Given the description of an element on the screen output the (x, y) to click on. 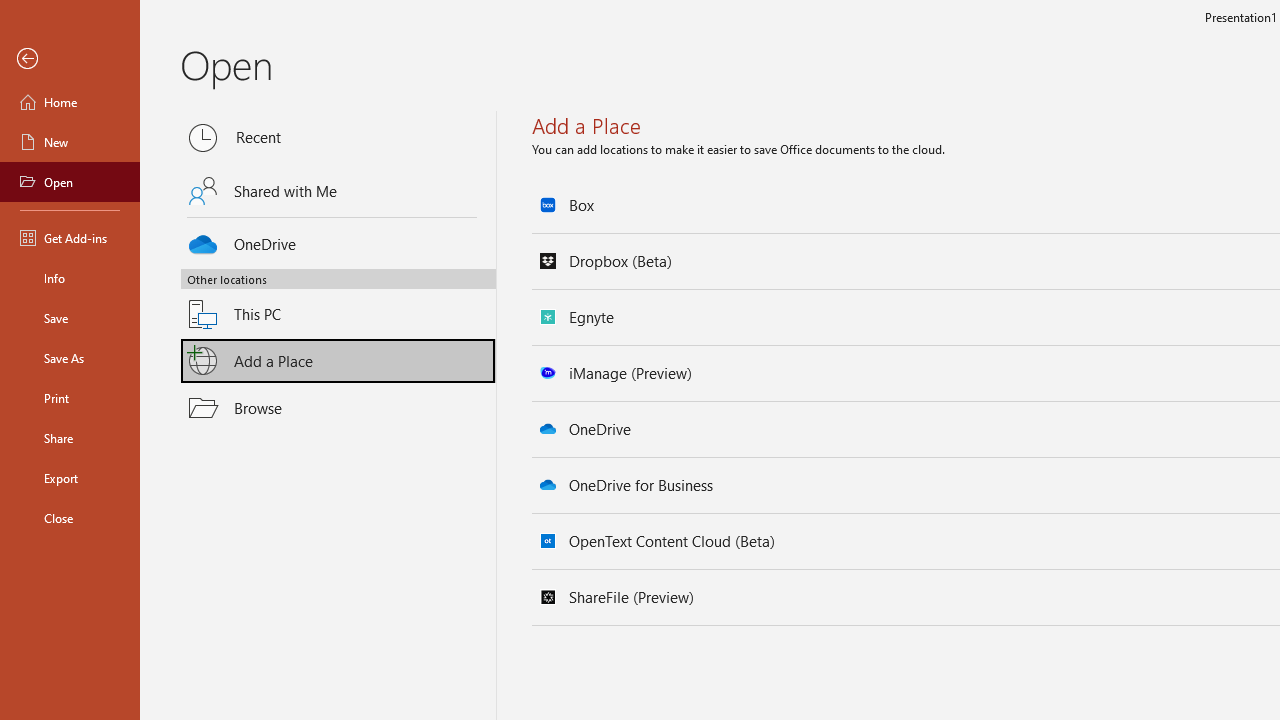
Recent (338, 138)
Info (69, 277)
Browse (338, 407)
New (69, 141)
Export (69, 477)
Print (69, 398)
Open (69, 182)
Get Add-ins (69, 237)
Save As (69, 357)
OneDrive (338, 240)
Shared with Me (338, 191)
Add a Place (338, 361)
